Given the description of an element on the screen output the (x, y) to click on. 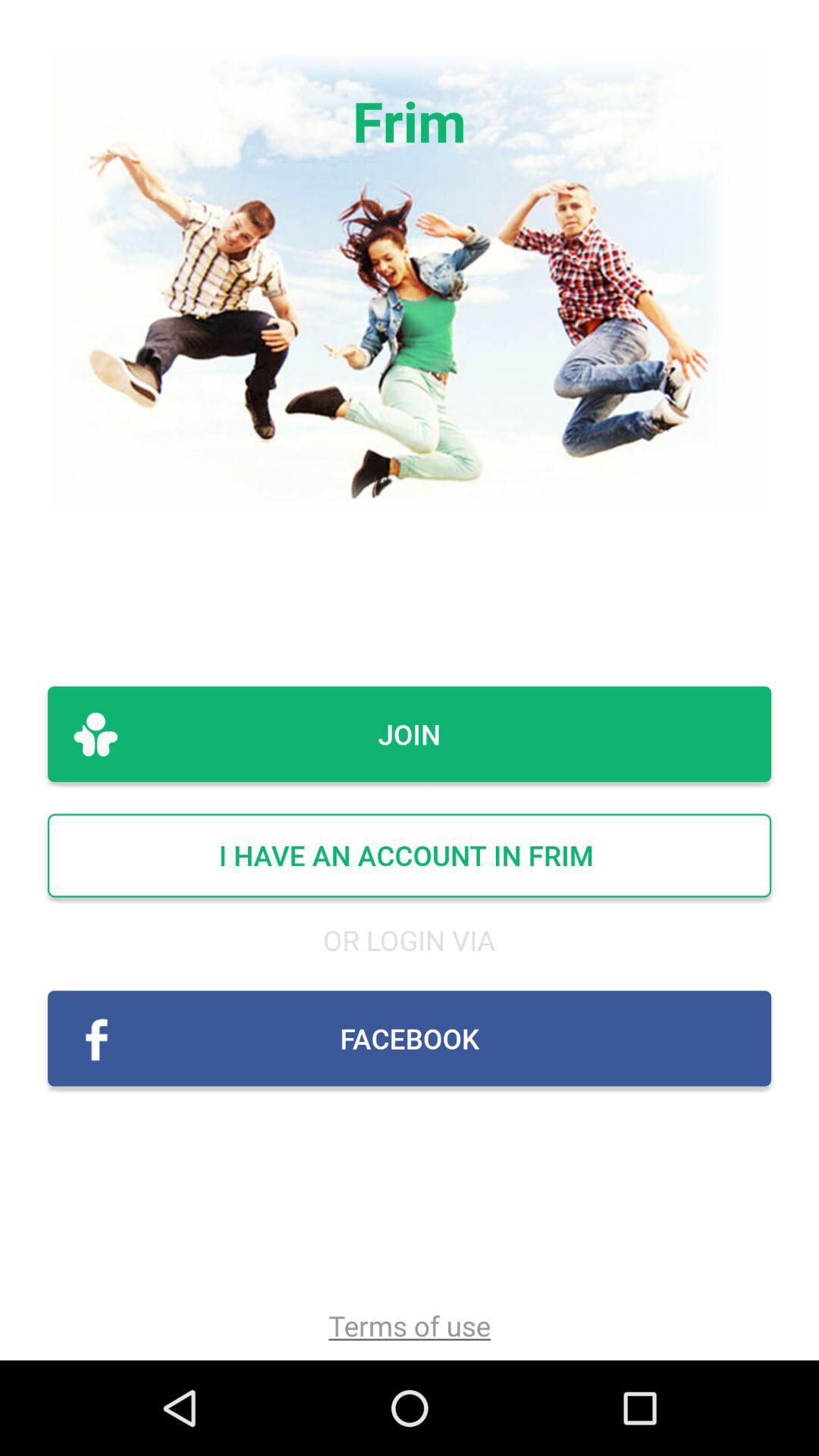
open item above or login via item (409, 855)
